Given the description of an element on the screen output the (x, y) to click on. 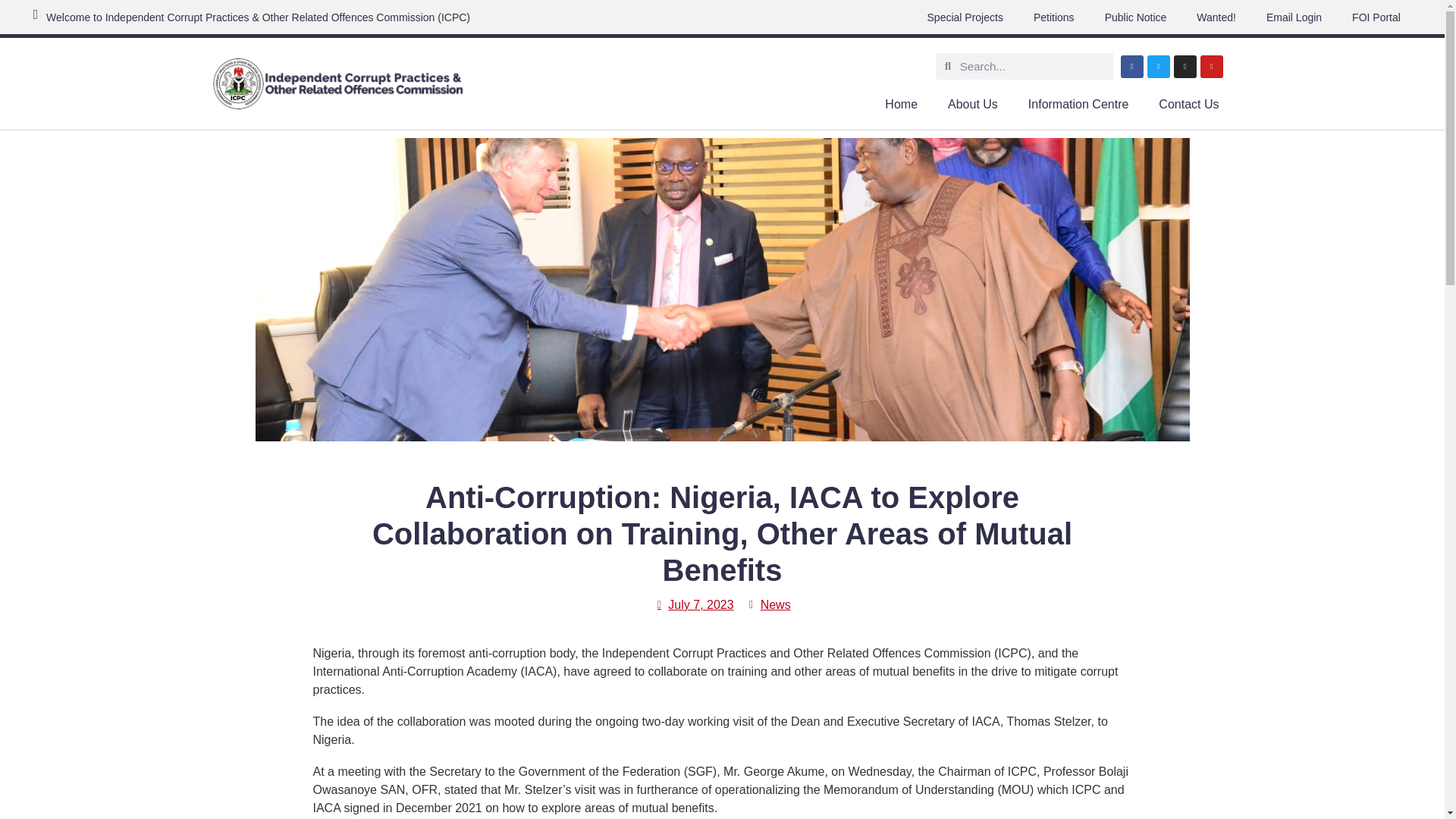
Public Notice (1135, 16)
Wanted! (1215, 16)
Special Projects (964, 16)
Petitions (1053, 16)
Email Login (1293, 16)
FOI Portal (1375, 16)
